Given the description of an element on the screen output the (x, y) to click on. 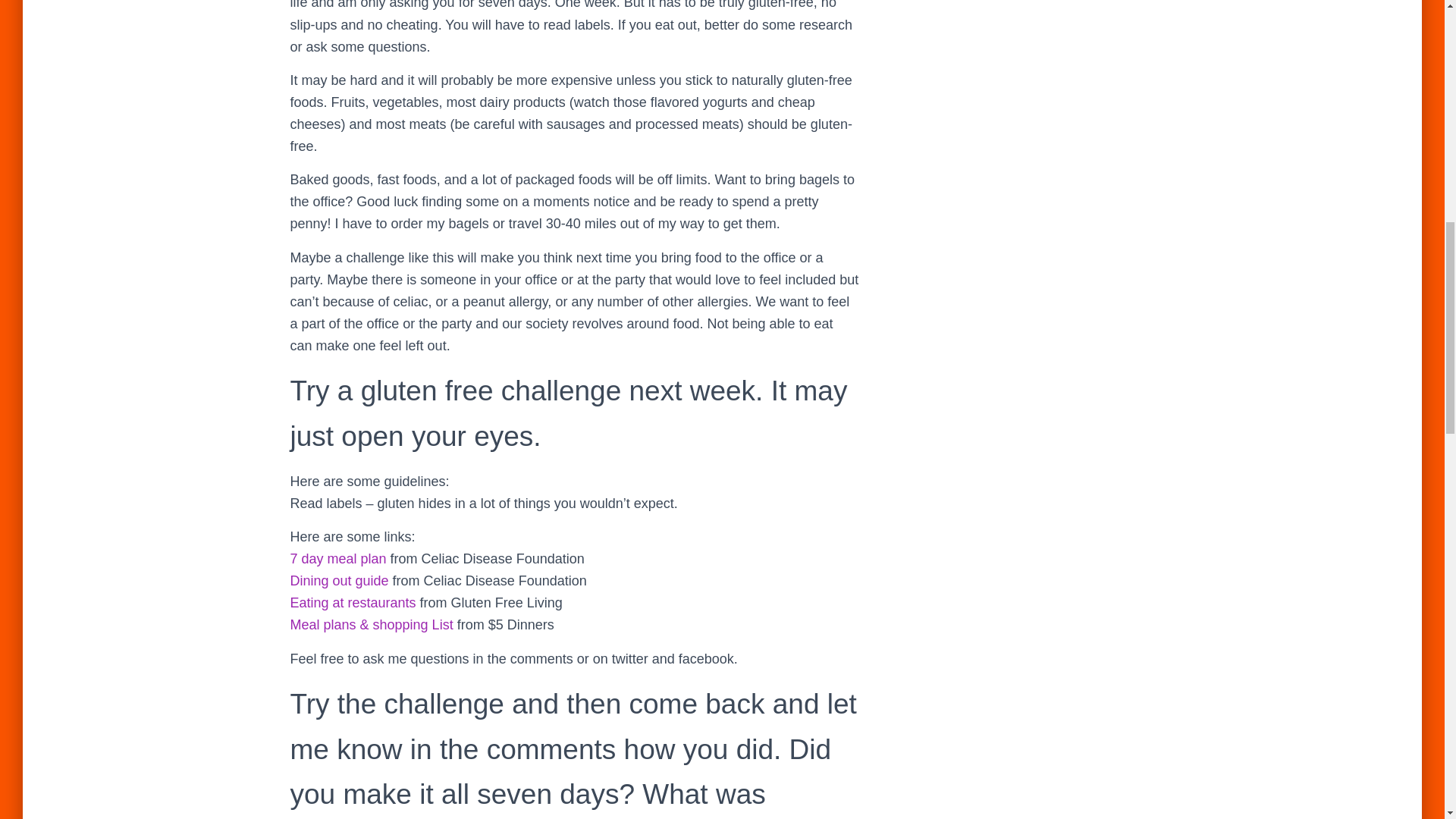
Dining out guide (338, 580)
7 day meal plan (337, 558)
Eating at restaurants (351, 602)
